Given the description of an element on the screen output the (x, y) to click on. 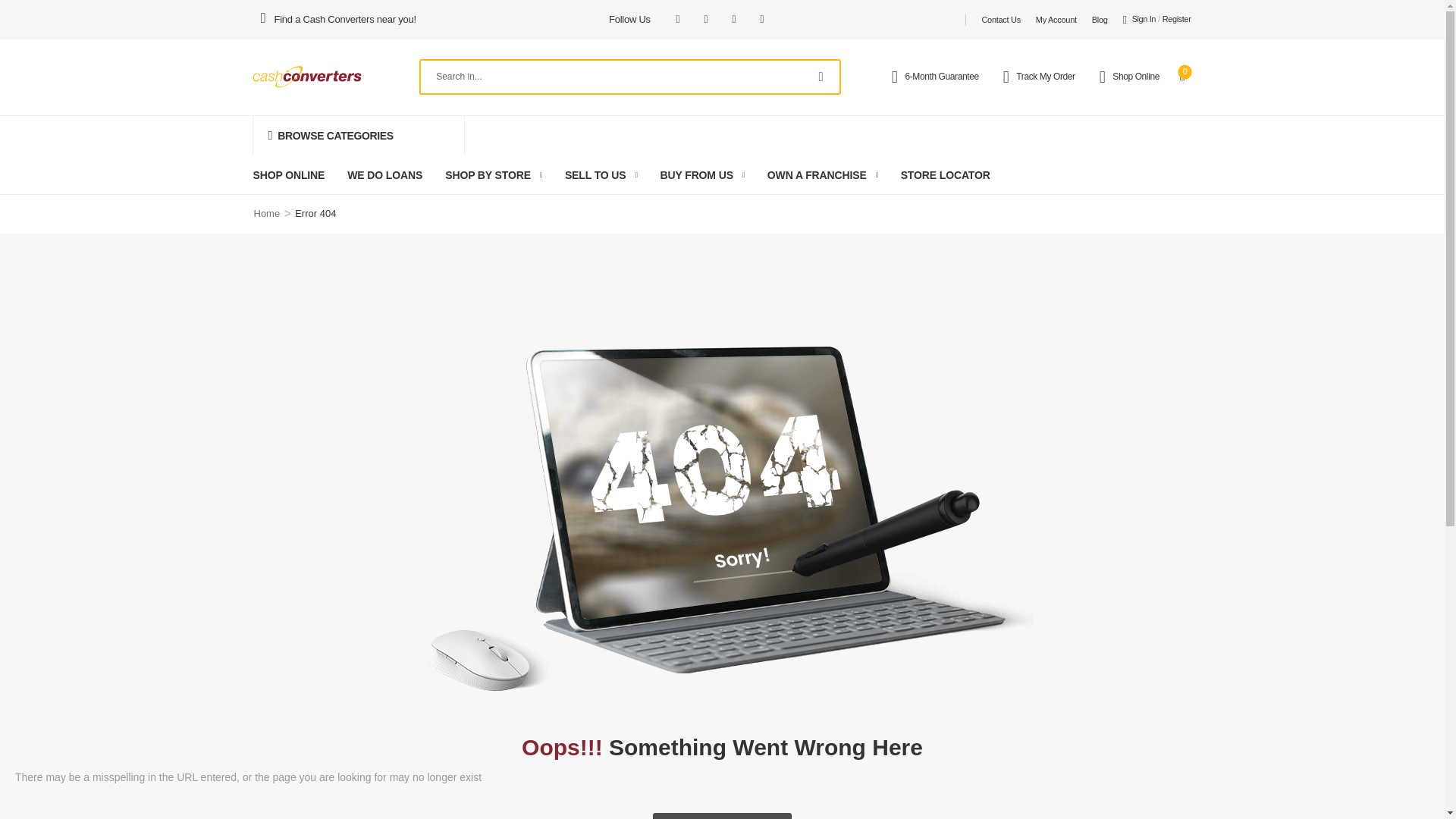
youtube (761, 19)
Find a Cash Converters near you! (345, 19)
Sign In (1139, 19)
My Account (1056, 19)
Track My Order (1051, 76)
linkedin (733, 19)
Register (1176, 19)
Shop Online (1141, 76)
instagram (705, 19)
Contact Us (1000, 19)
facebook (677, 19)
BROWSE CATEGORIES (357, 135)
Blog (1100, 19)
6-Month Guarantee (947, 76)
